Given the description of an element on the screen output the (x, y) to click on. 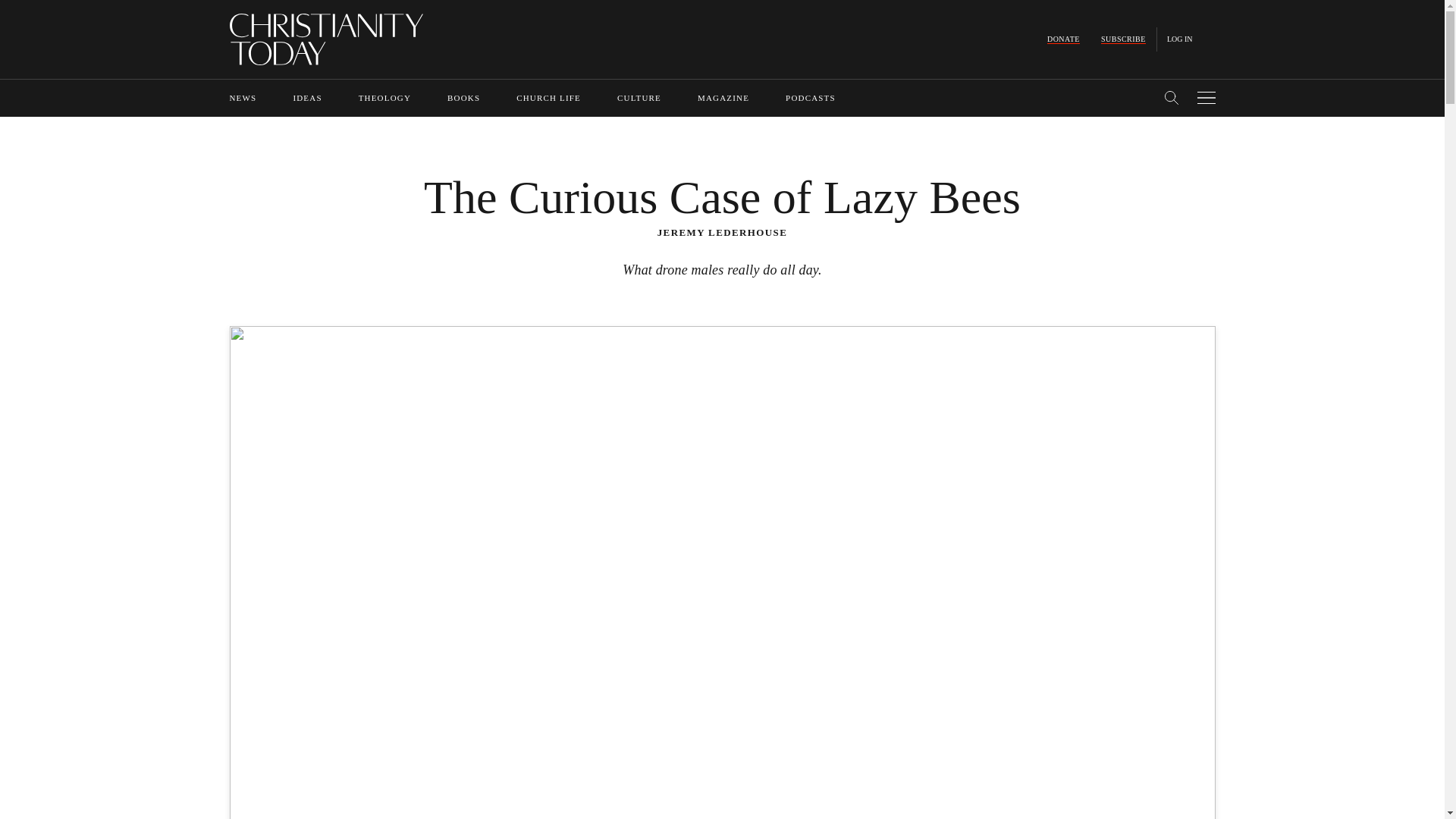
PODCASTS (810, 97)
NEWS (242, 97)
CULTURE (639, 97)
BOOKS (463, 97)
CHURCH LIFE (548, 97)
LOG IN (1179, 39)
SUBSCRIBE (1122, 39)
MAGAZINE (723, 97)
DONATE (1063, 39)
IDEAS (306, 97)
